Given the description of an element on the screen output the (x, y) to click on. 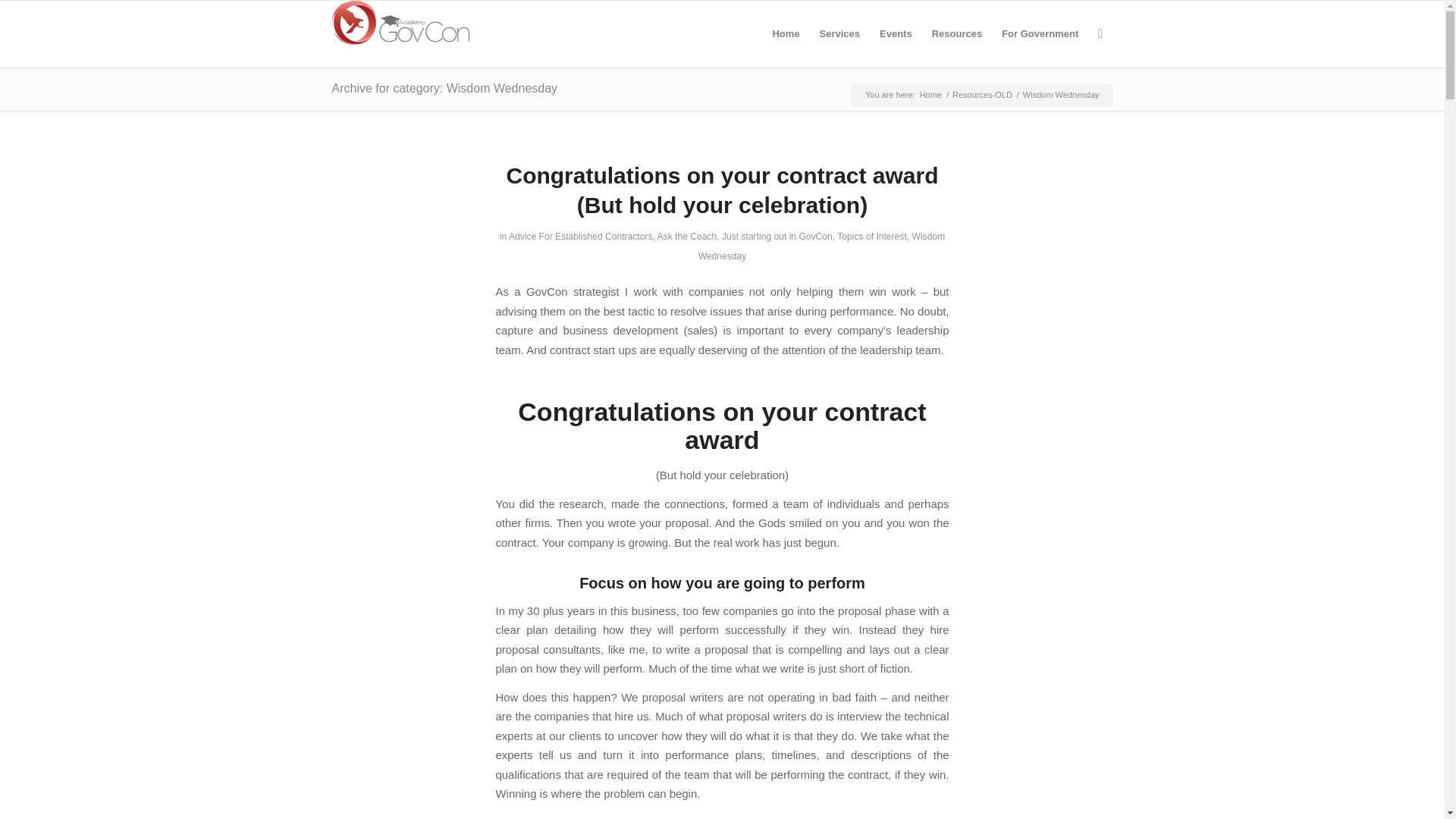
Permanent Link: Archive for category: Wisdom Wednesday (444, 88)
Services (839, 33)
Resources (956, 33)
For Government (1039, 33)
Home (930, 94)
Wisdom Wednesday (821, 245)
Resources-OLD (982, 94)
GovCon Academy (930, 94)
GovCon-Academy-Small (399, 22)
Just starting out in GovCon (777, 235)
